Given the description of an element on the screen output the (x, y) to click on. 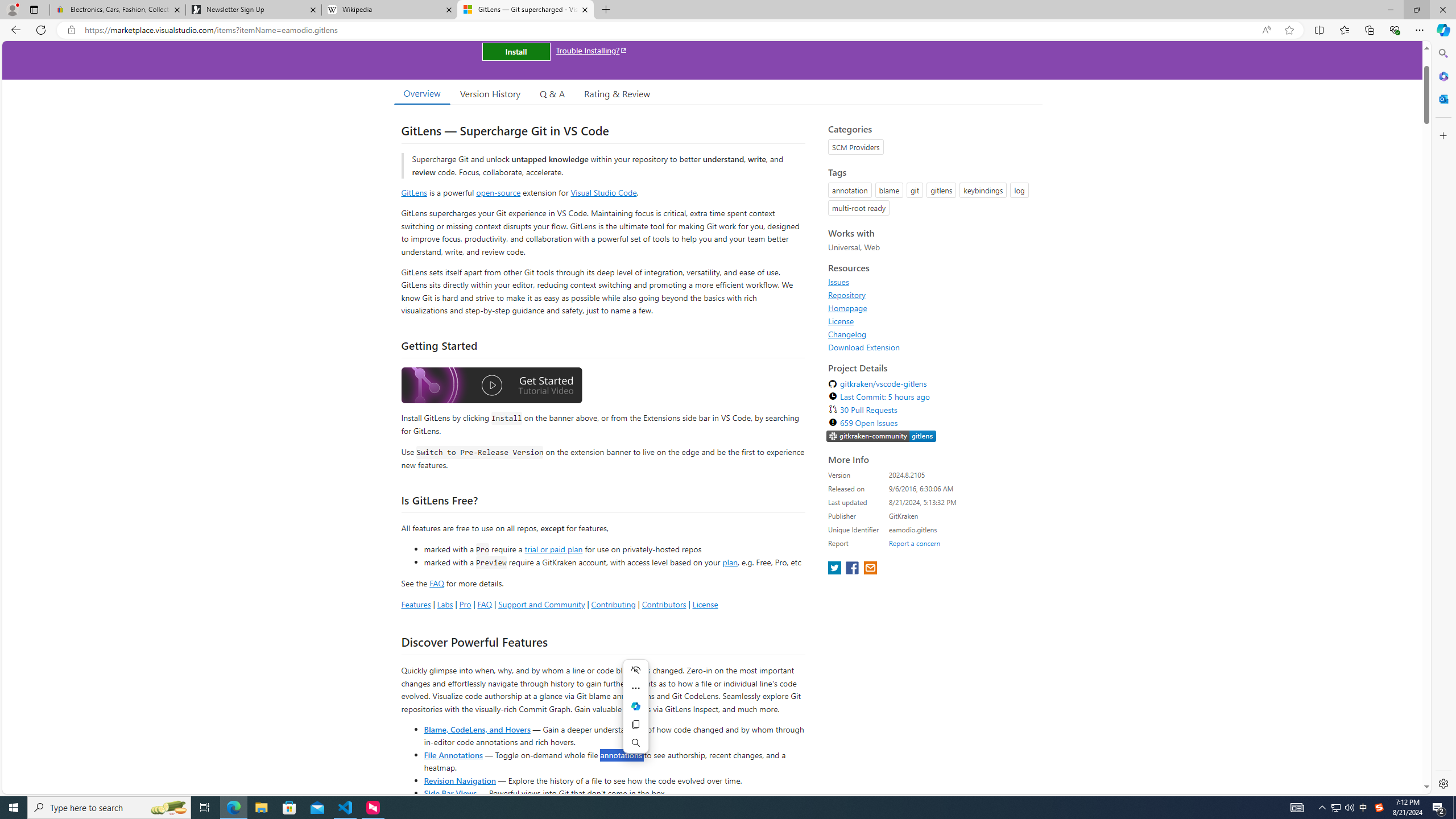
share extension on email (869, 568)
Download Extension (863, 346)
Contributors (663, 603)
Copy (635, 724)
Mini menu on text selection (635, 706)
Visual Studio Code (603, 192)
Mini menu on text selection (636, 713)
Download Extension (931, 346)
GitLens (414, 192)
